Given the description of an element on the screen output the (x, y) to click on. 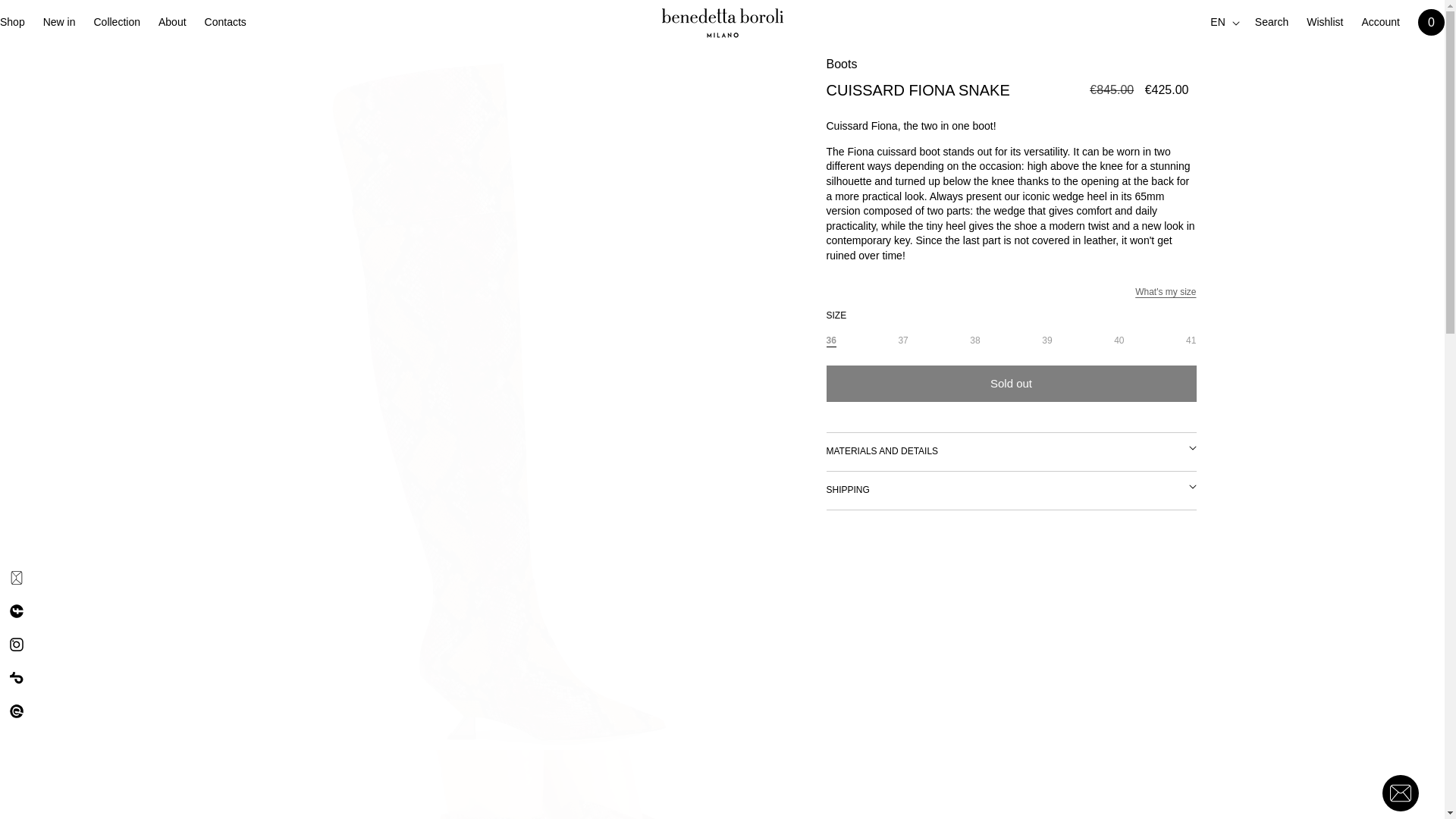
New in (58, 21)
0 (498, 784)
Skip to content (45, 18)
